Given the description of an element on the screen output the (x, y) to click on. 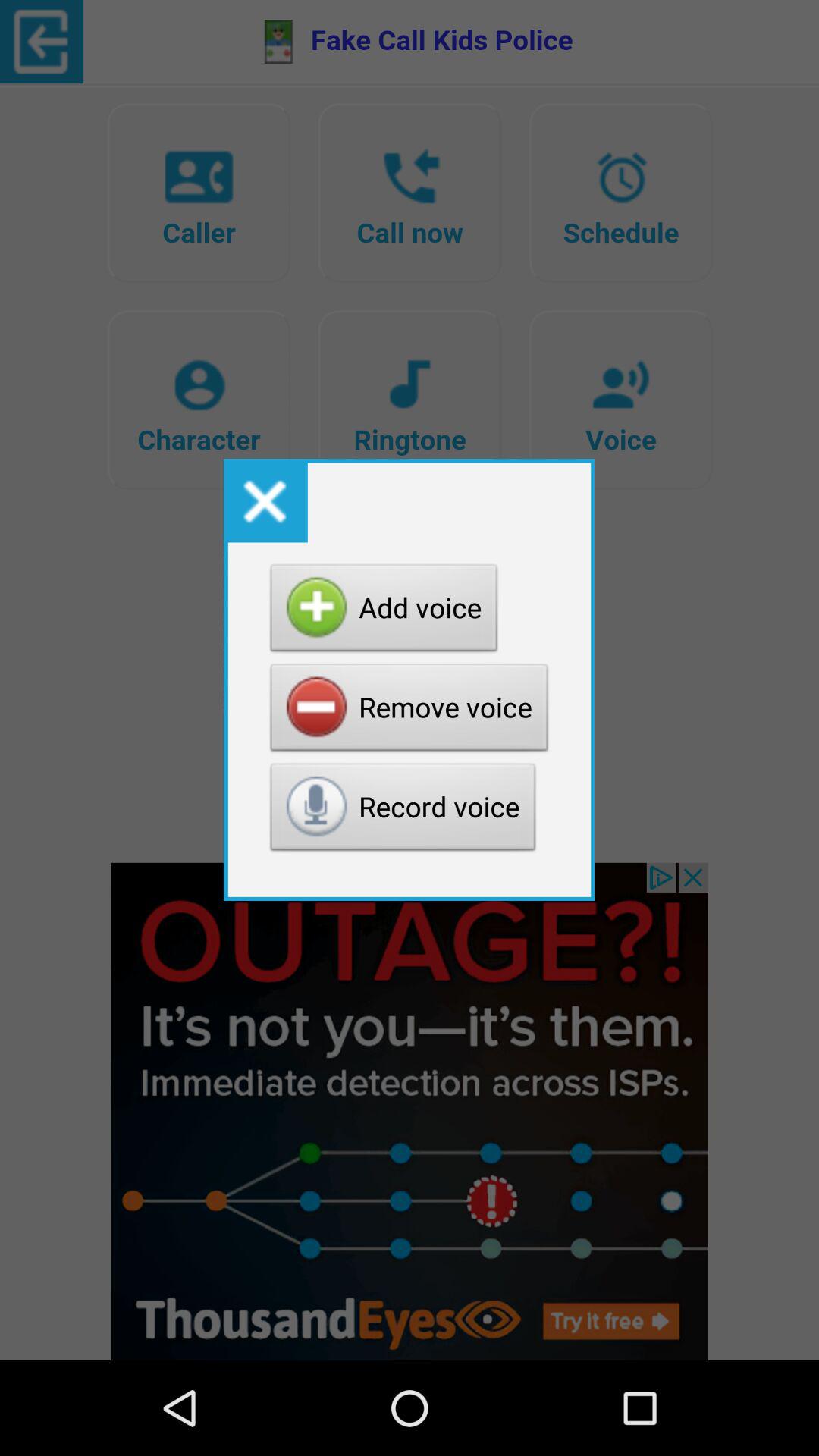
open the item below remove voice button (402, 811)
